Given the description of an element on the screen output the (x, y) to click on. 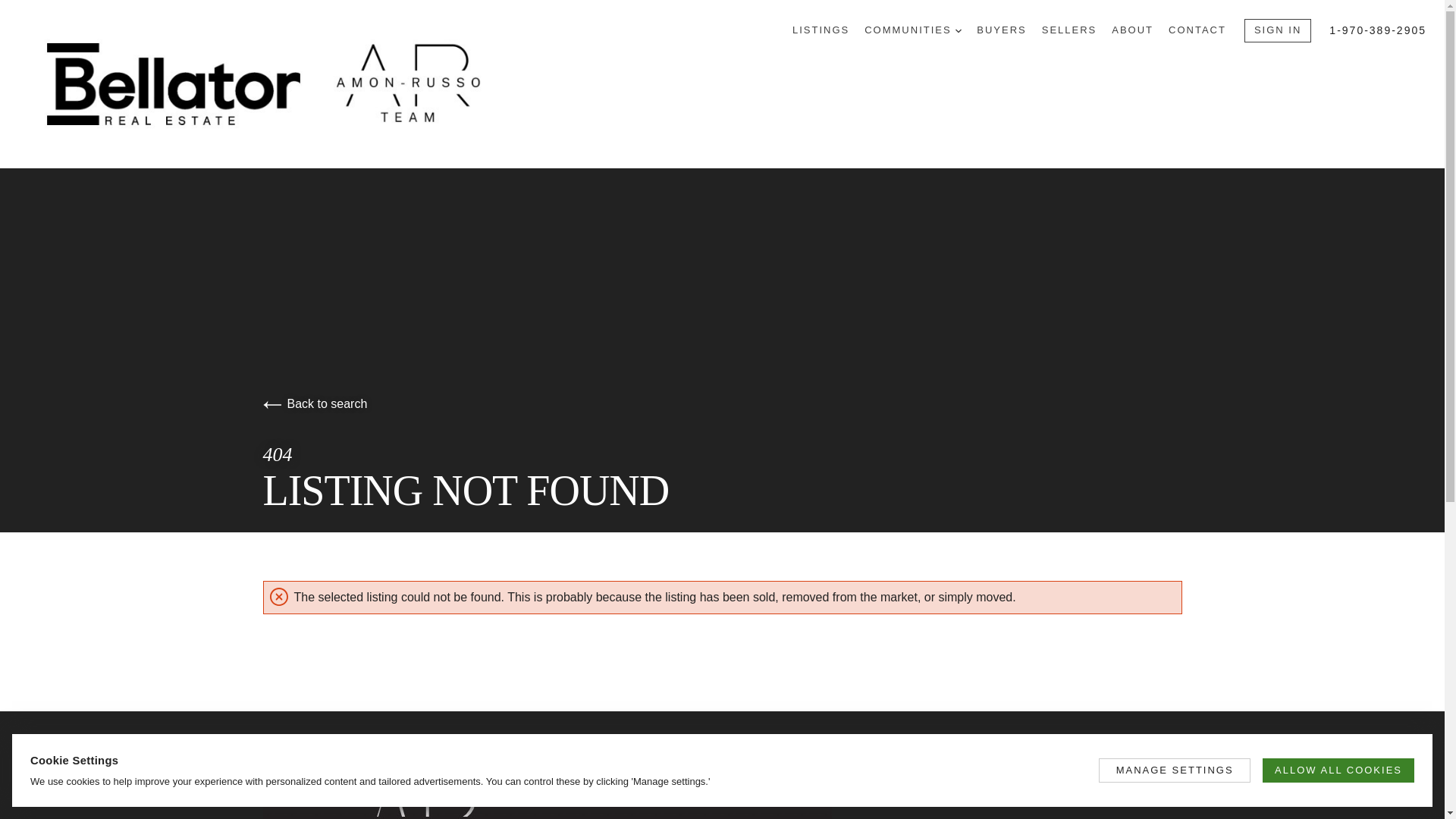
1-970-389-2905 (1377, 29)
LISTINGS (820, 30)
ABOUT (1132, 30)
CONTACT (1197, 30)
DROPDOWN ARROW (957, 30)
Back to search (314, 403)
BUYERS (1001, 30)
SELLERS (1069, 30)
COMMUNITIES DROPDOWN ARROW (912, 30)
SIGN IN (1277, 30)
